Given the description of an element on the screen output the (x, y) to click on. 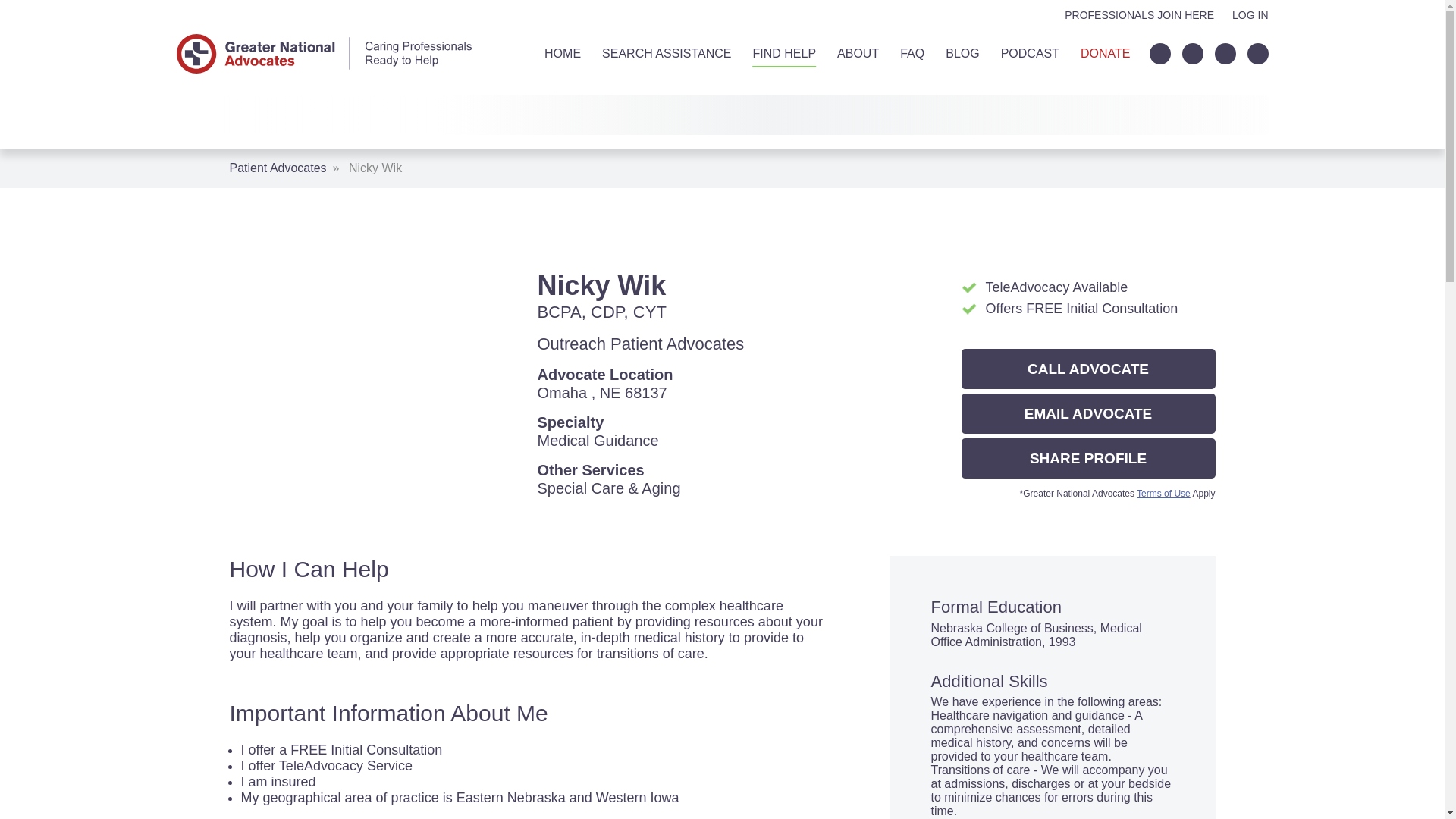
Podcast (1030, 53)
Donate (1104, 53)
CALL ADVOCATE (1087, 368)
SHARE PROFILE (1087, 458)
Patient Advocates (277, 167)
About (858, 53)
Professionals Join Here (1139, 15)
SEARCH ASSISTANCE (666, 53)
FAQ (911, 53)
ABOUT (858, 53)
Log in (1249, 15)
FIND HELP (783, 53)
Patient Advocates (277, 167)
PODCAST (1030, 53)
EMAIL ADVOCATE (1087, 413)
